Given the description of an element on the screen output the (x, y) to click on. 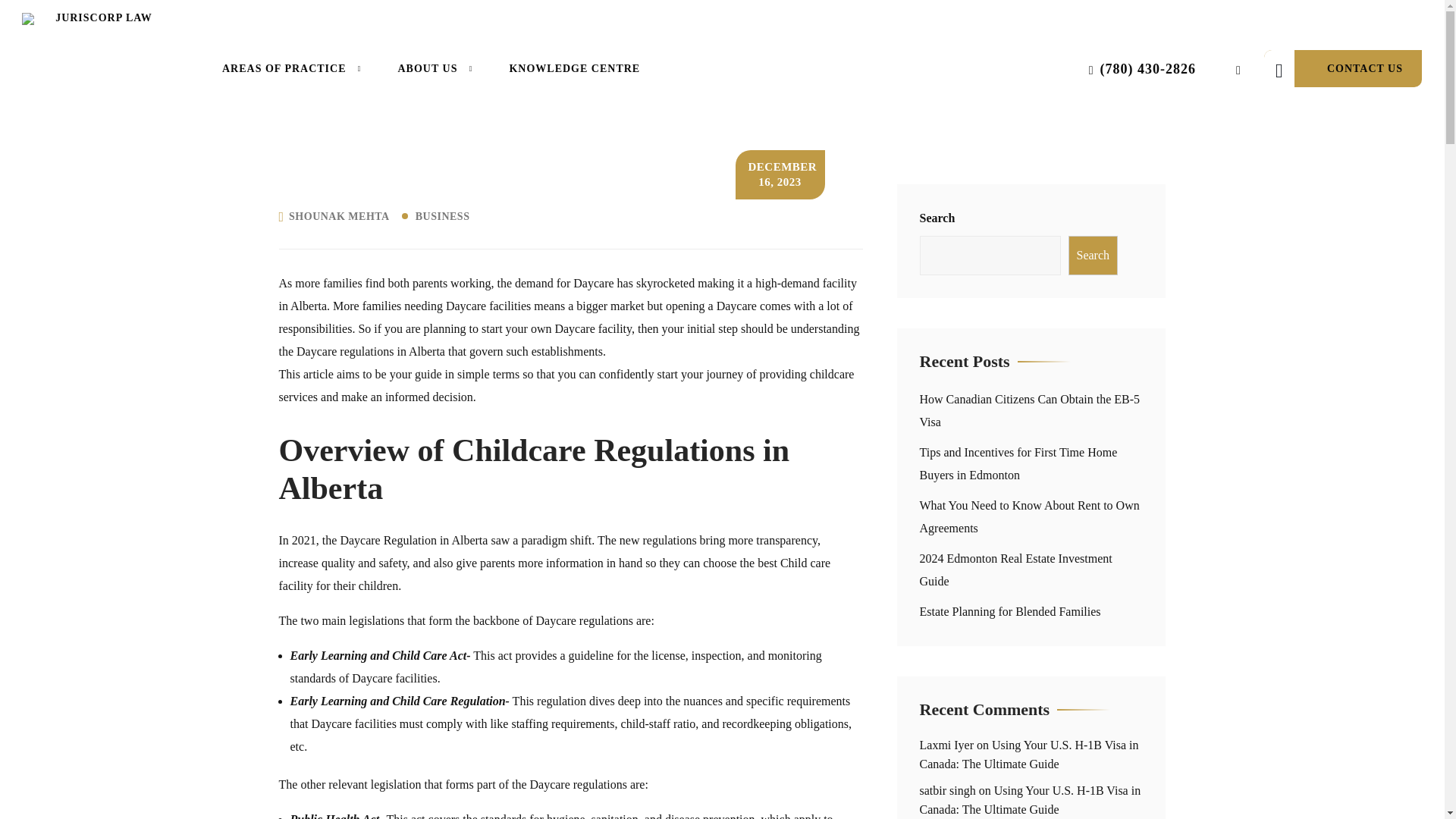
What You Need to Know About Rent to Own Agreements (1028, 516)
KNOWLEDGE CENTRE (574, 68)
Tips and Incentives for First Time Home Buyers in Edmonton (1017, 463)
DECEMBER 16, 2023 (780, 174)
Search (1092, 255)
BUSINESS (443, 216)
How Canadian Citizens Can Obtain the EB-5 Visa (1029, 410)
SHOUNAK MEHTA (339, 216)
AREAS OF PRACTICE (291, 68)
CONTACT US (1342, 67)
